Given the description of an element on the screen output the (x, y) to click on. 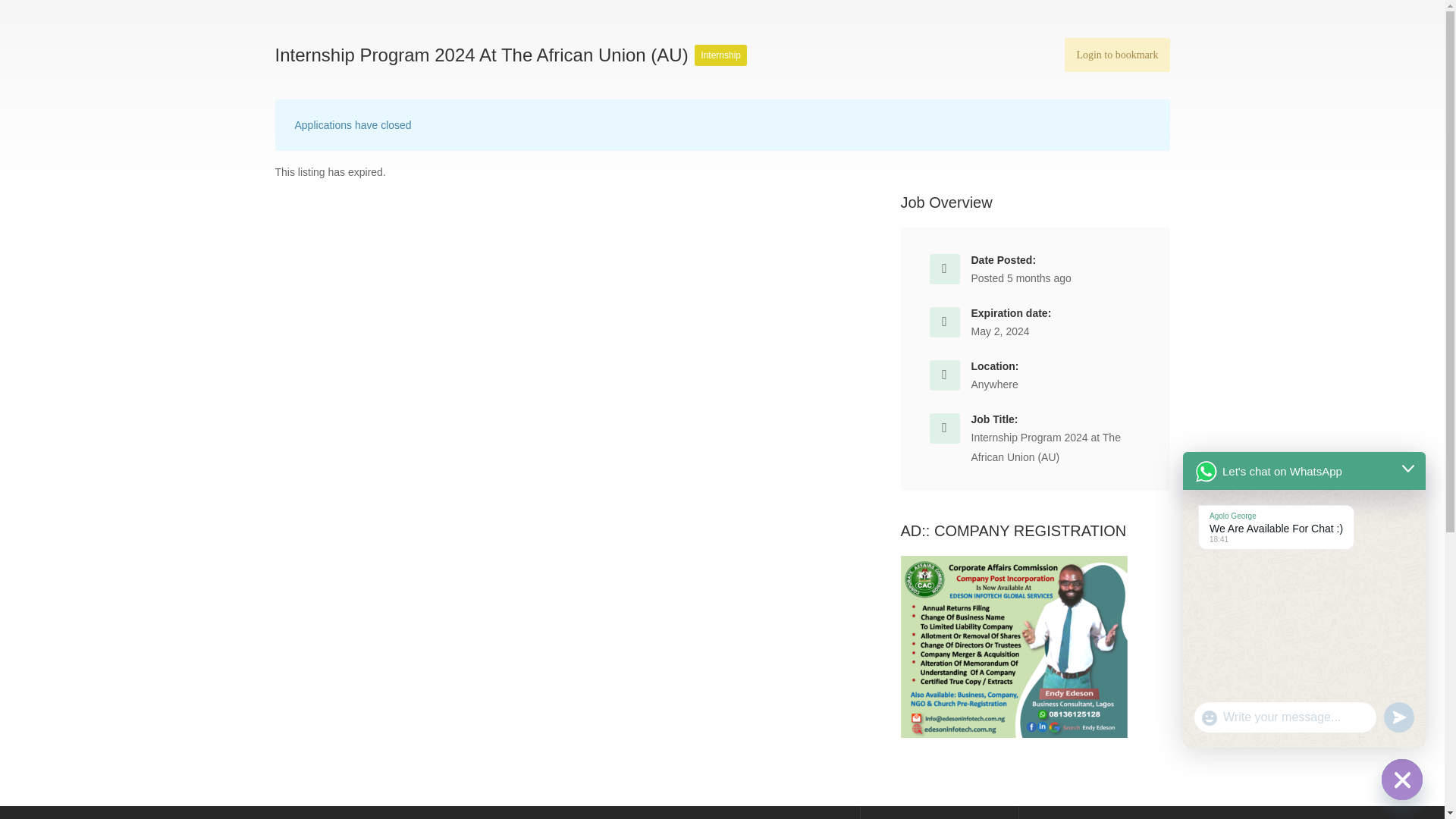
undefined (1398, 716)
Login to bookmark (1116, 54)
Hide chaty (1401, 779)
Show Emojis (1208, 718)
